Given the description of an element on the screen output the (x, y) to click on. 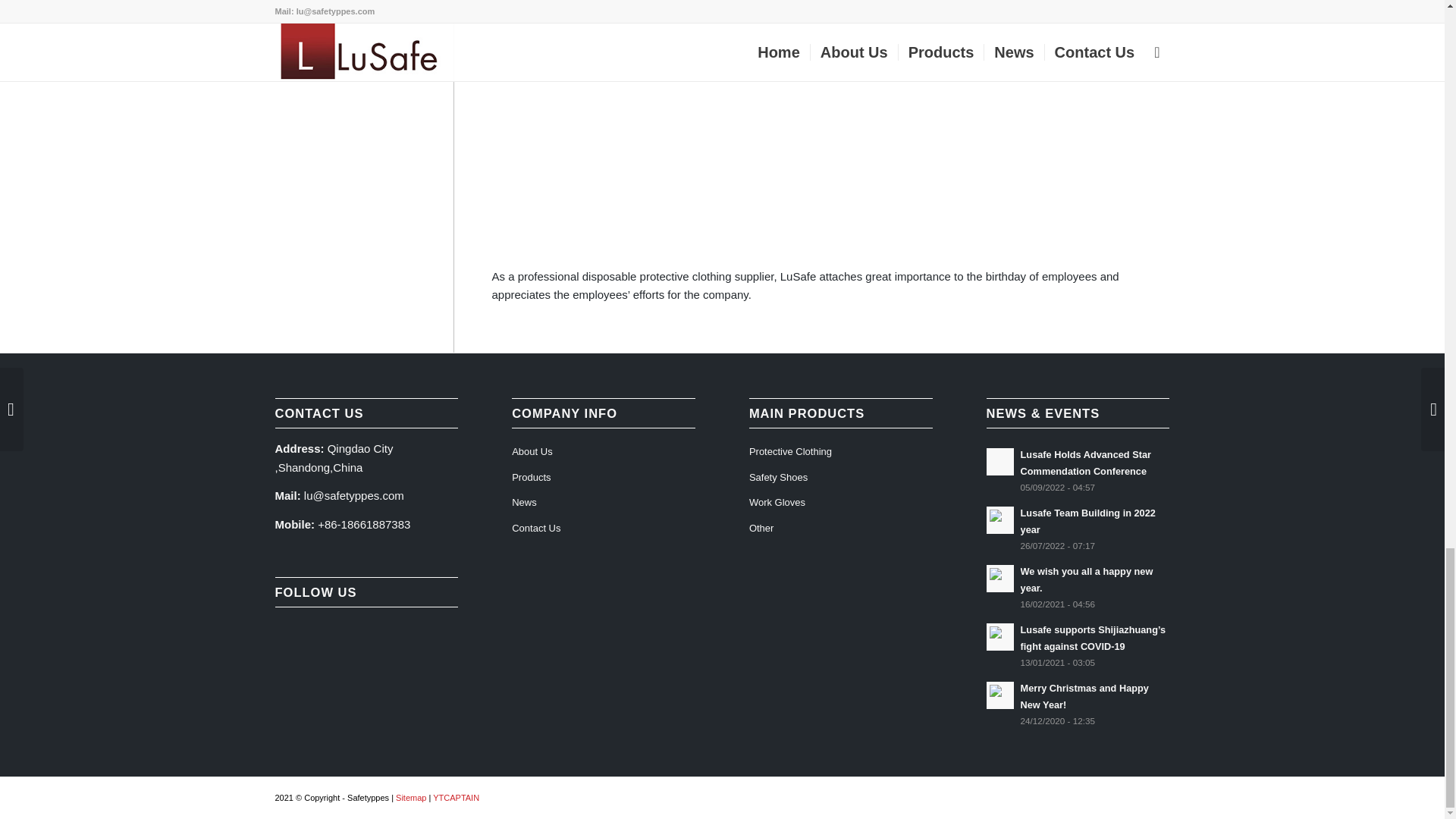
Work Gloves (841, 503)
About Us (603, 452)
Safety Shoes (841, 478)
Protective Clothing (841, 452)
Sitemap (411, 797)
Contact Us (603, 529)
We wish you all a happy new year. 7 (1000, 578)
Merry Christmas and Happy New Year! (1078, 703)
Lusafe Holds Advanced Star Commendation Conference (1078, 470)
News (603, 503)
Other (841, 529)
Lusafe supports Shijiazhuang's fight against COVID-19 8 (1000, 636)
Lusafe Team Building in 2022 year (1078, 528)
Lusafe Team Building in 2022 year 6 (1000, 519)
